Given the description of an element on the screen output the (x, y) to click on. 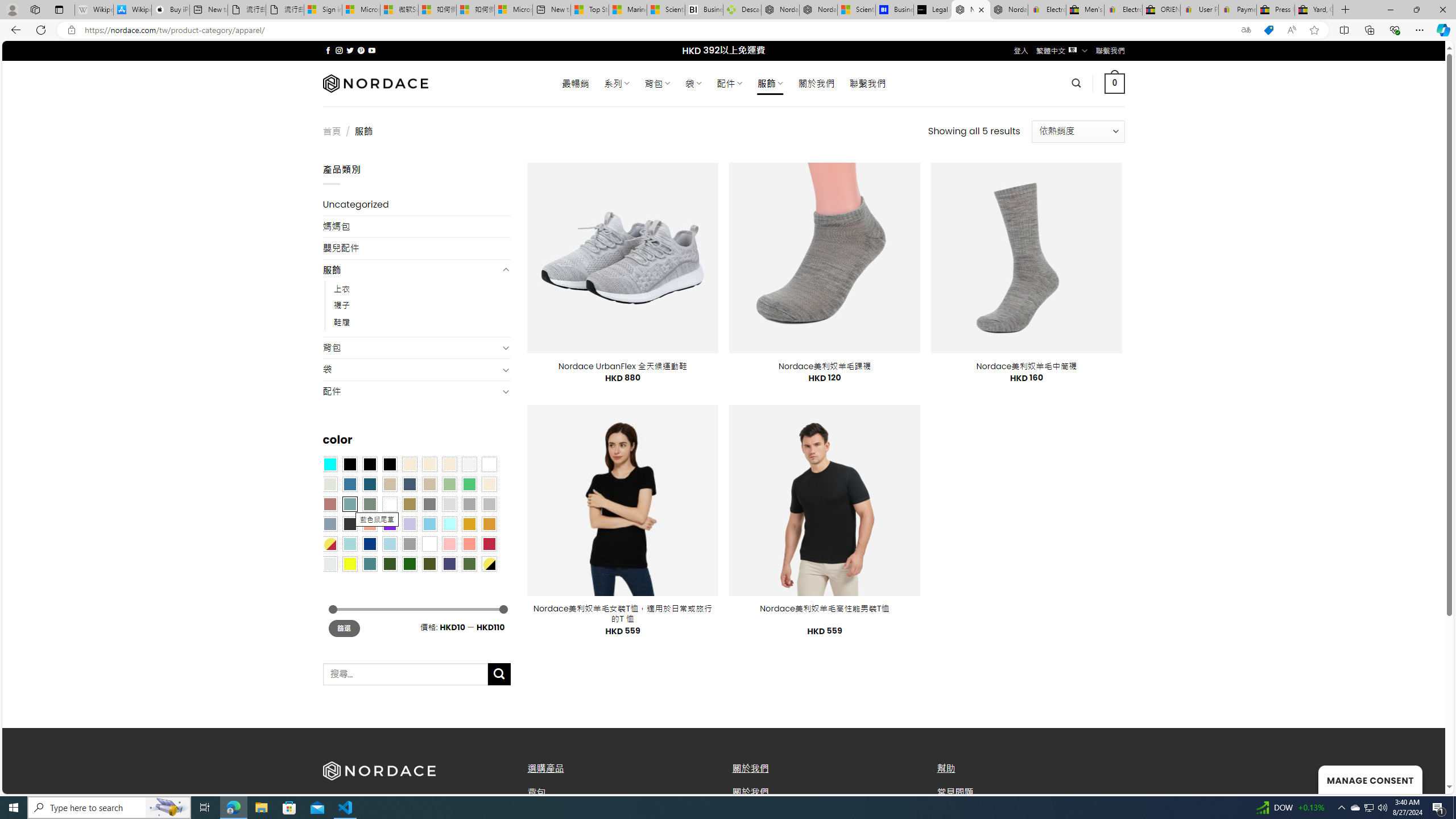
Show translate options (1245, 29)
This site has coupons! Shopping in Microsoft Edge (1268, 29)
